Given the description of an element on the screen output the (x, y) to click on. 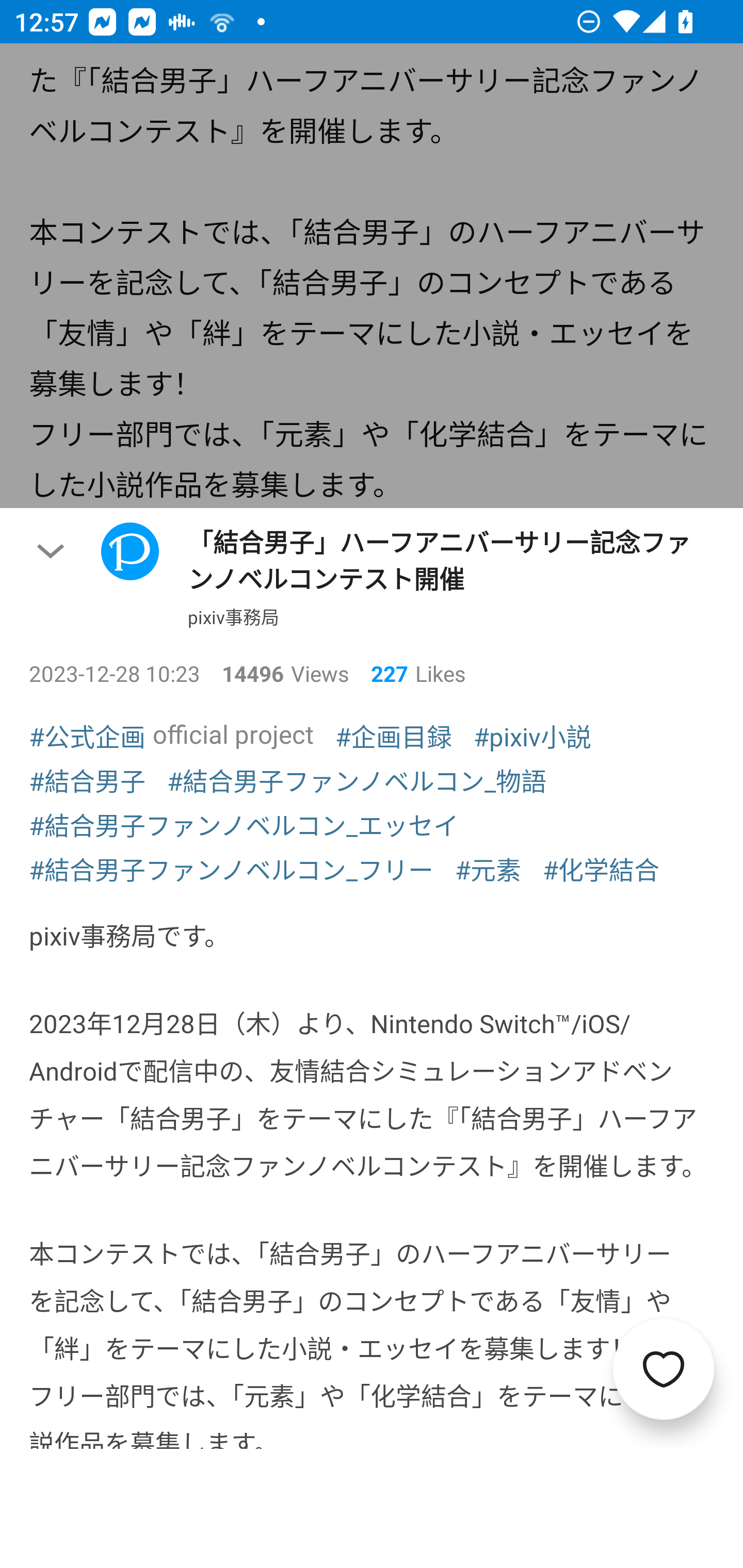
pixiv事務局 (233, 616)
227 (382, 673)
#公式企画 (86, 735)
official project (233, 733)
#企画目録 (393, 735)
#pixiv小説 (532, 735)
#結合男子 (86, 780)
#結合男子ファンノベルコン_物語 (356, 780)
#結合男子ファンノベルコン_エッセイ (243, 824)
#結合男子ファンノベルコン_フリー (230, 868)
#元素 (487, 868)
#化学結合 (601, 868)
